Given the description of an element on the screen output the (x, y) to click on. 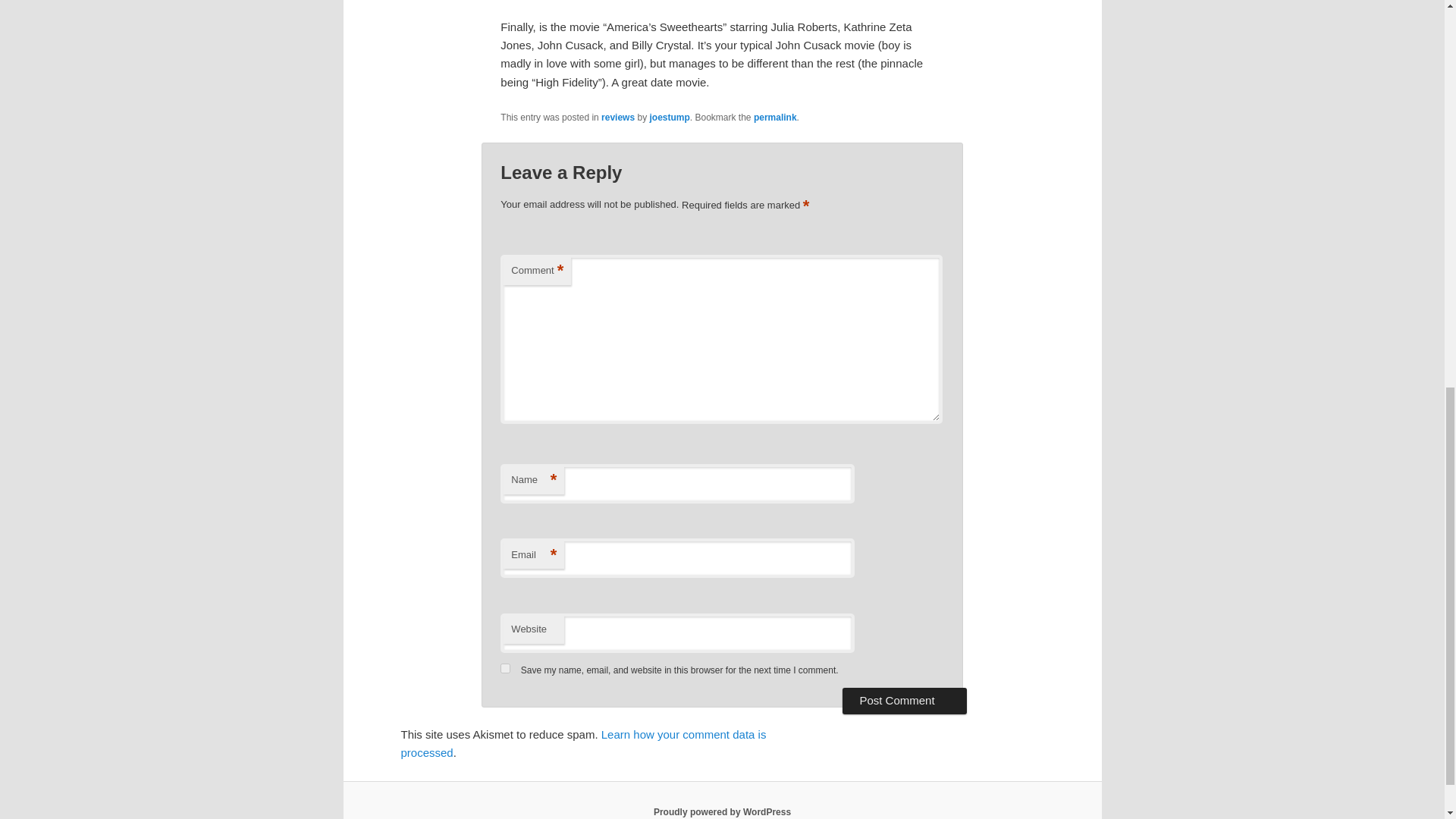
Post Comment (904, 700)
Permalink to A flock of movie reviews (775, 117)
reviews (617, 117)
yes (505, 668)
Semantic Personal Publishing Platform (721, 811)
Learn how your comment data is processed (582, 743)
Post Comment (904, 700)
permalink (775, 117)
joestump (668, 117)
Proudly powered by WordPress (721, 811)
